Given the description of an element on the screen output the (x, y) to click on. 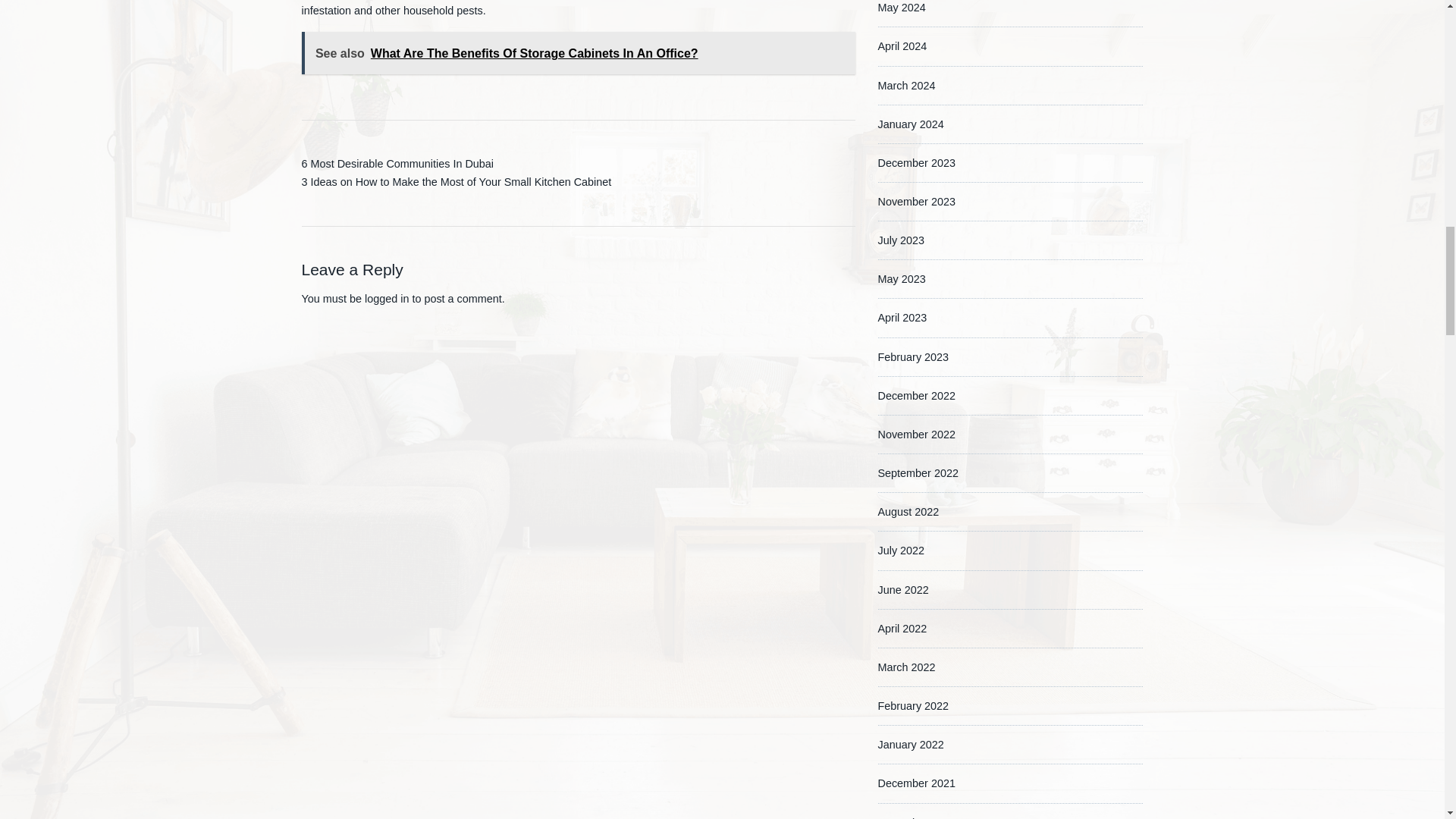
logged in (387, 298)
6 Most Desirable Communities In Dubai (398, 163)
